Given the description of an element on the screen output the (x, y) to click on. 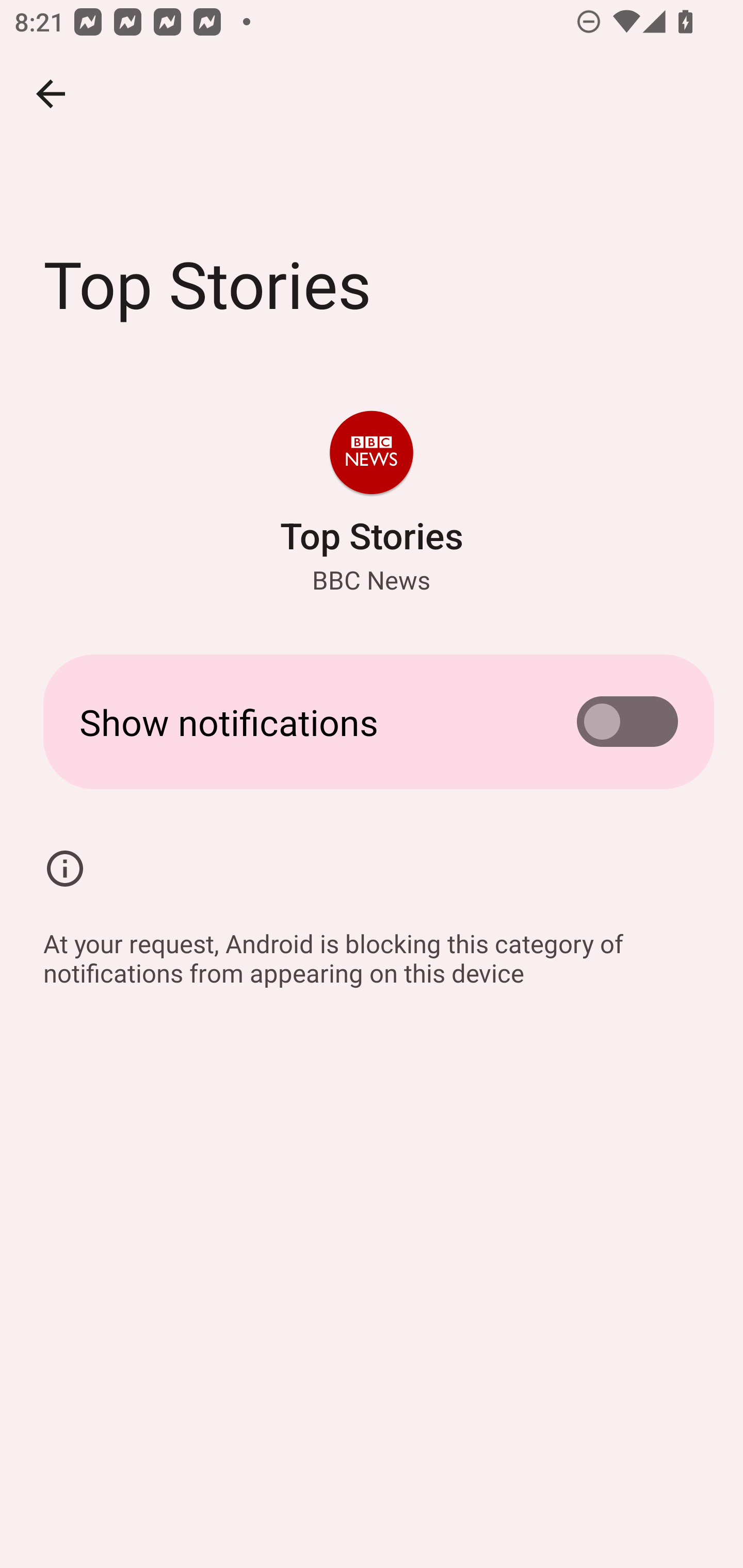
Navigate up (50, 93)
Top Stories BBC News (371, 503)
Show notifications (371, 721)
